Given the description of an element on the screen output the (x, y) to click on. 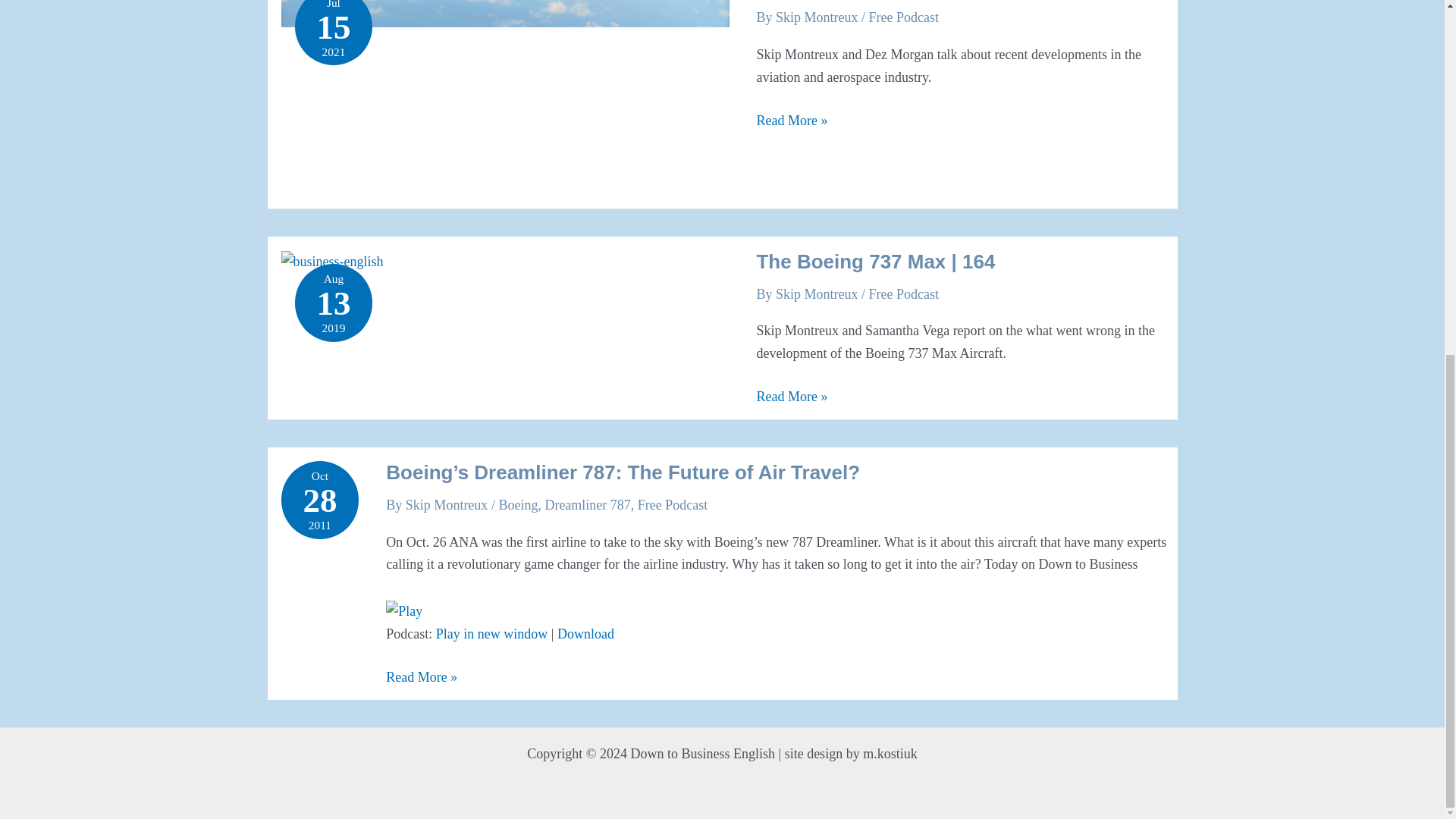
View all posts by Skip Montreux (818, 17)
Play (403, 611)
Play in new window (491, 633)
Download (585, 633)
View all posts by Skip Montreux (449, 504)
Play (403, 610)
View all posts by Skip Montreux (818, 294)
